Given the description of an element on the screen output the (x, y) to click on. 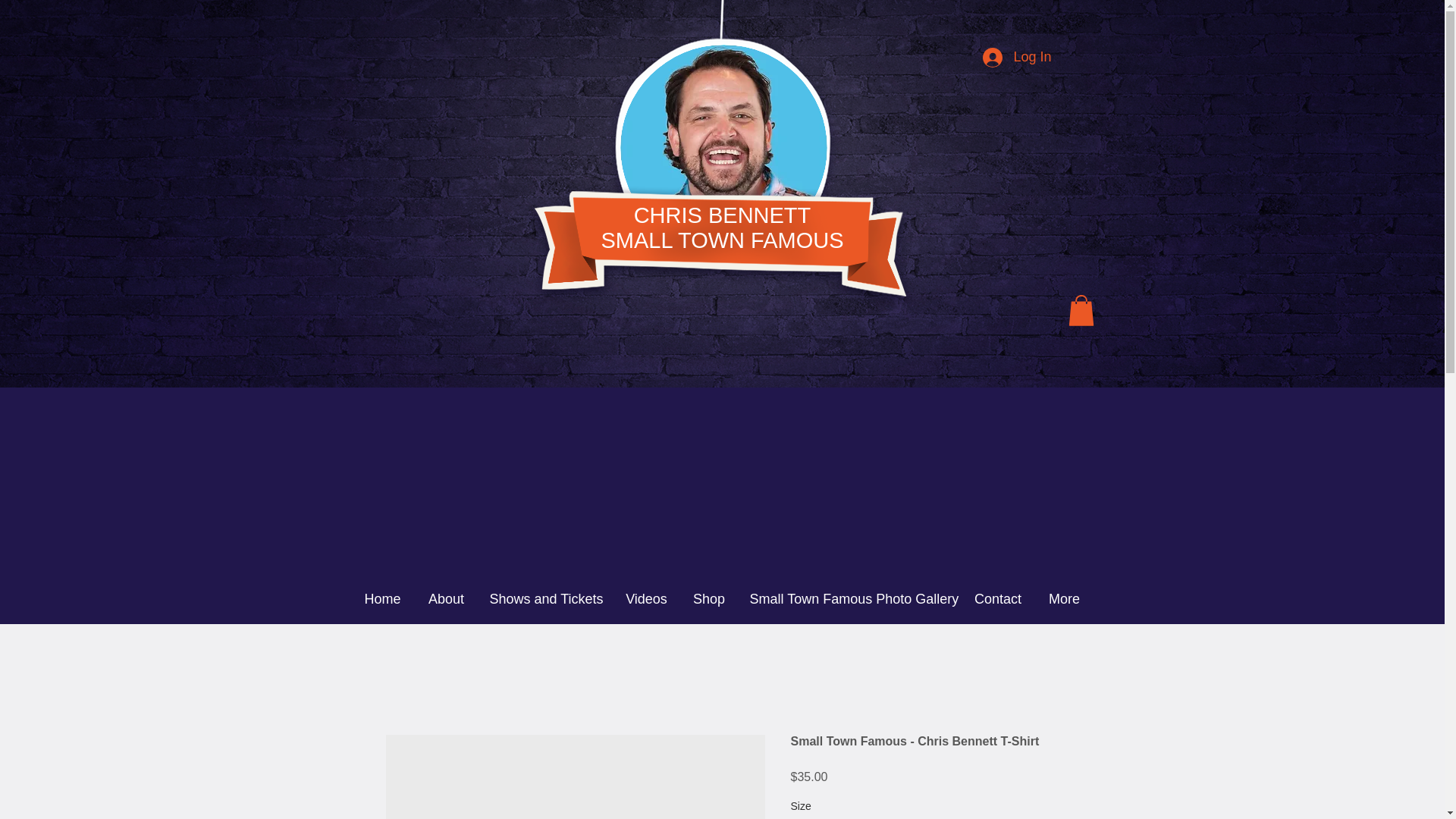
Small Town Famous Photo Gallery (849, 598)
Shop (708, 598)
Contact (997, 598)
About (445, 598)
Home (381, 598)
Videos (645, 598)
Log In (1016, 57)
Shows and Tickets (721, 227)
